Given the description of an element on the screen output the (x, y) to click on. 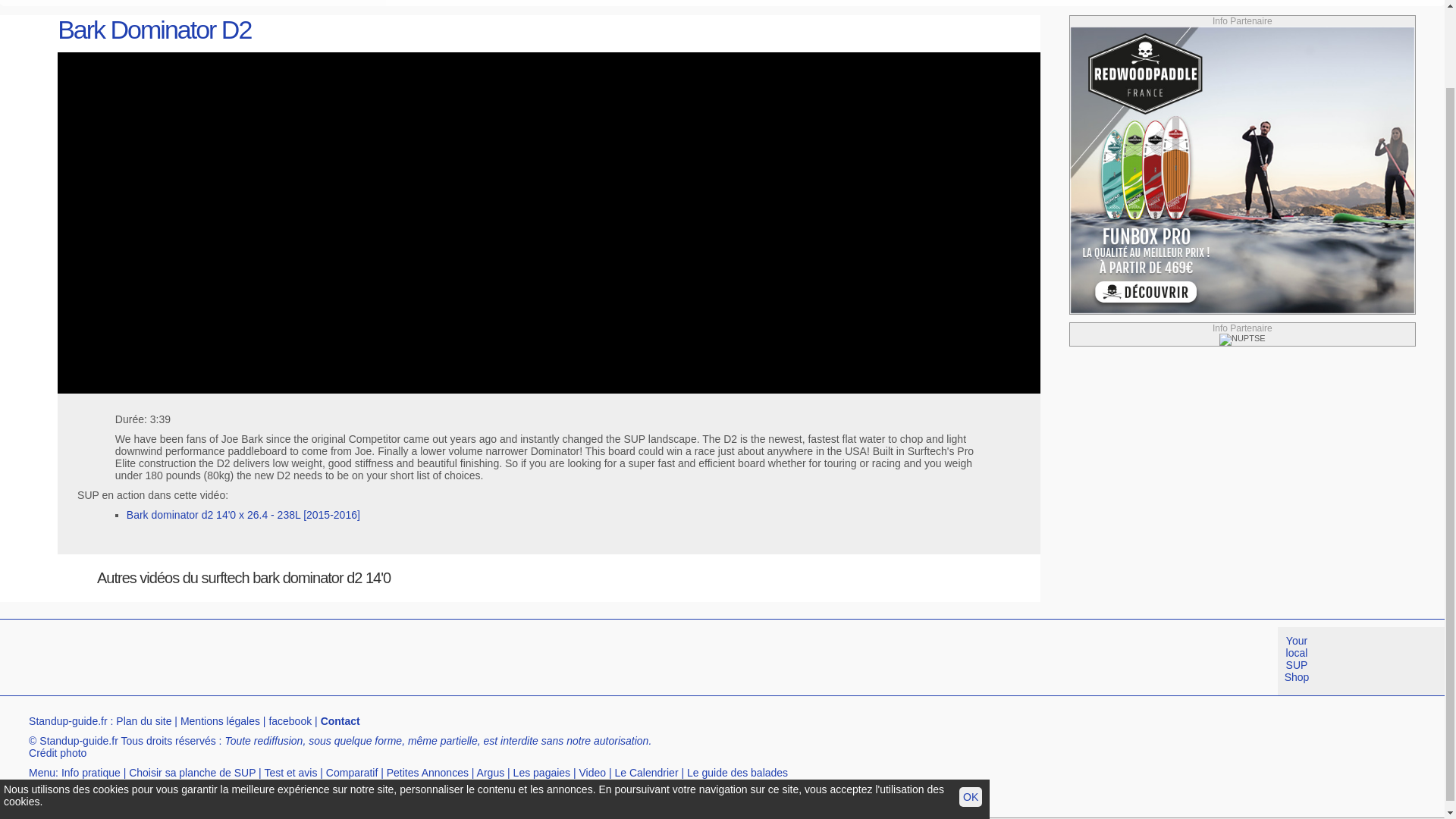
Le guide des balades (737, 772)
Petites Annonces (427, 772)
Plan du site (143, 720)
Les pagaies (541, 772)
Argus (491, 772)
SurfShop et Magasins pour acheter un SUP (183, 792)
video de SUP par standup-guide (593, 772)
Video (593, 772)
Les pagaies de stand up paddle (541, 772)
surftech bark dominator d2 14'0 (178, 1)
